Given the description of an element on the screen output the (x, y) to click on. 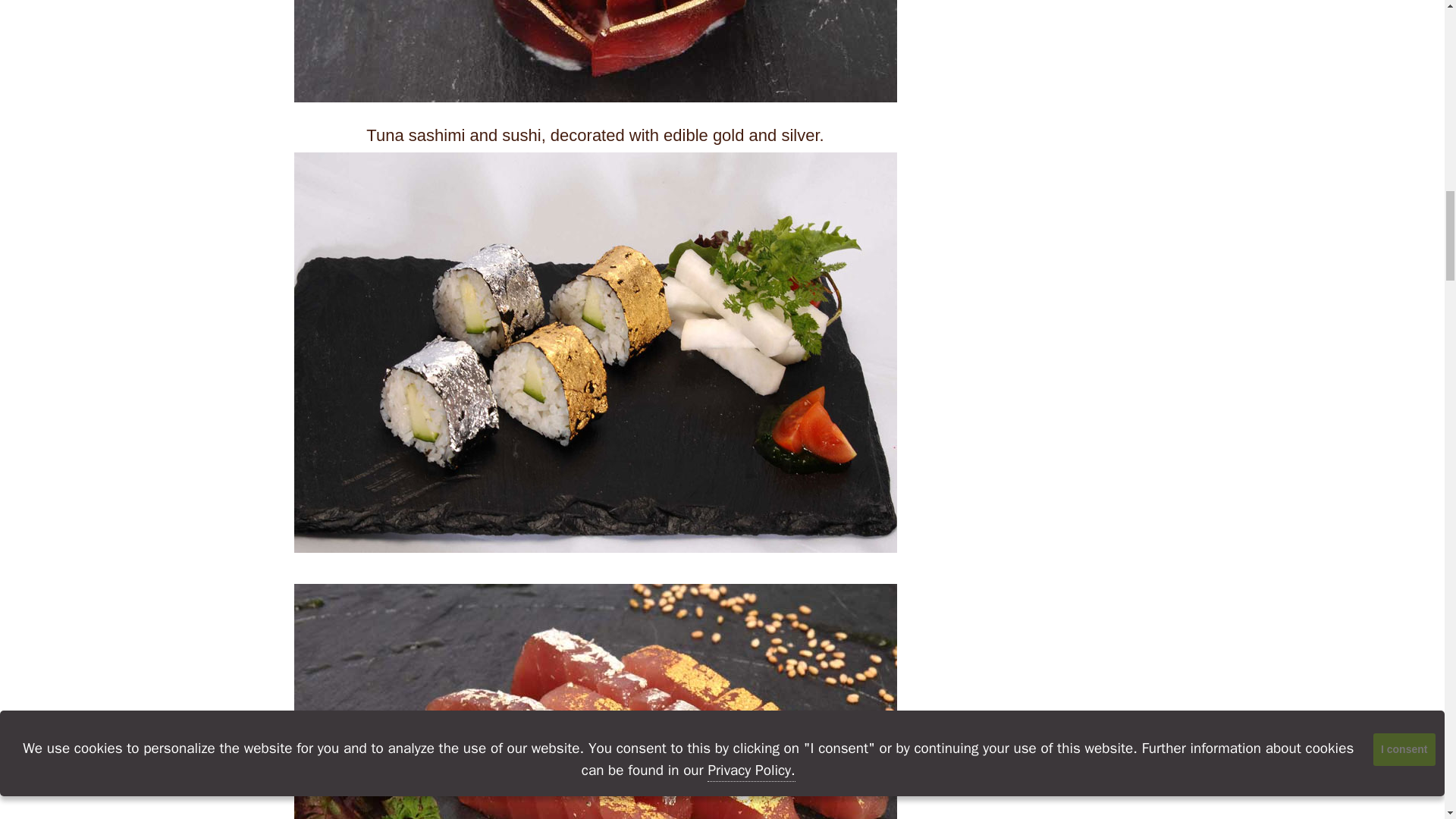
cured beef from Grisons with 24 karat edible gold (595, 51)
